Given the description of an element on the screen output the (x, y) to click on. 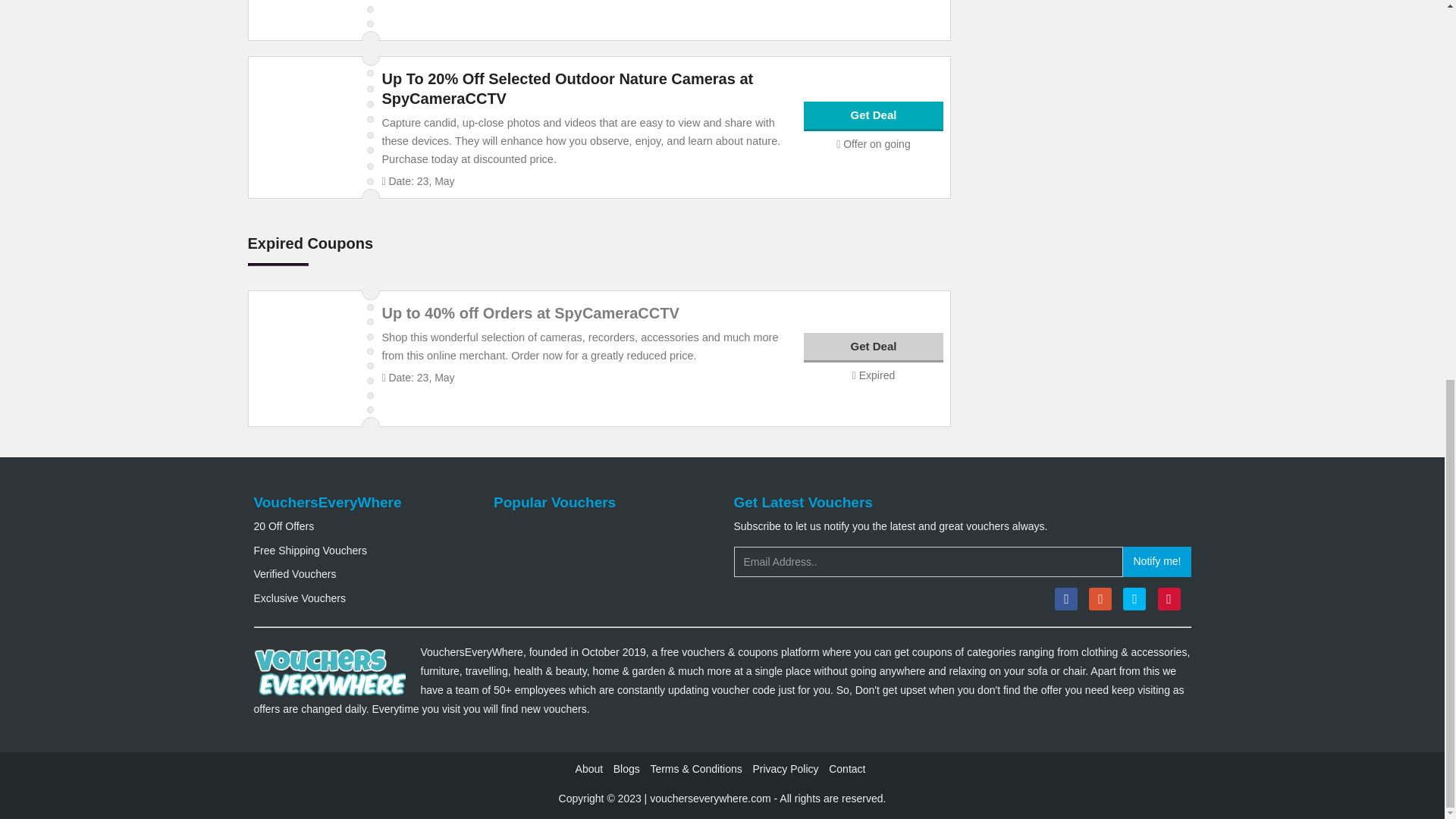
20 Off Offers (283, 526)
Notify me! (1156, 562)
Exclusive Vouchers (299, 598)
Verified Vouchers (294, 573)
Free Shipping Vouchers (309, 550)
Get Deal (873, 115)
Get Deal (873, 346)
